Given the description of an element on the screen output the (x, y) to click on. 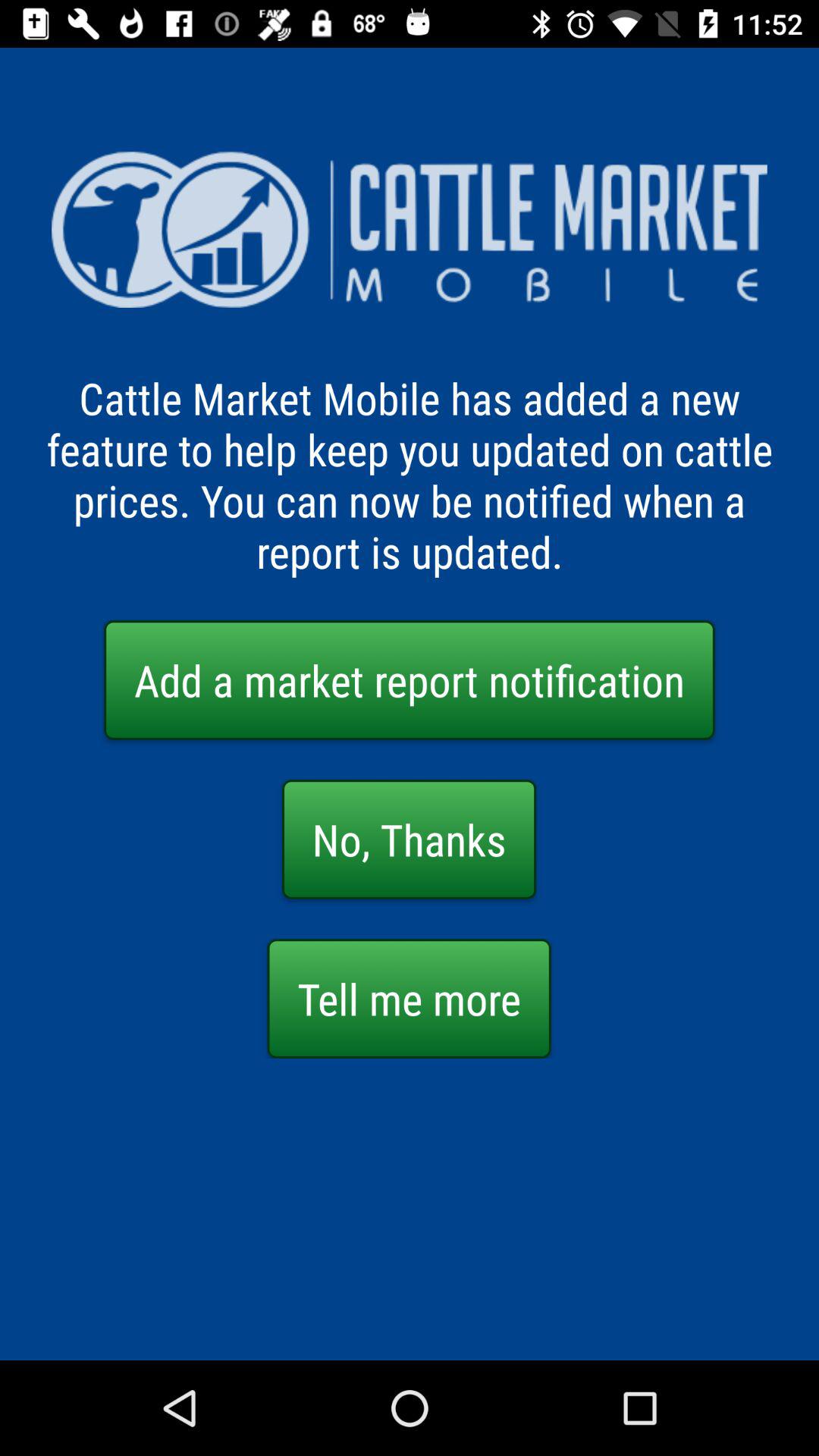
press the icon below add a market item (409, 839)
